Given the description of an element on the screen output the (x, y) to click on. 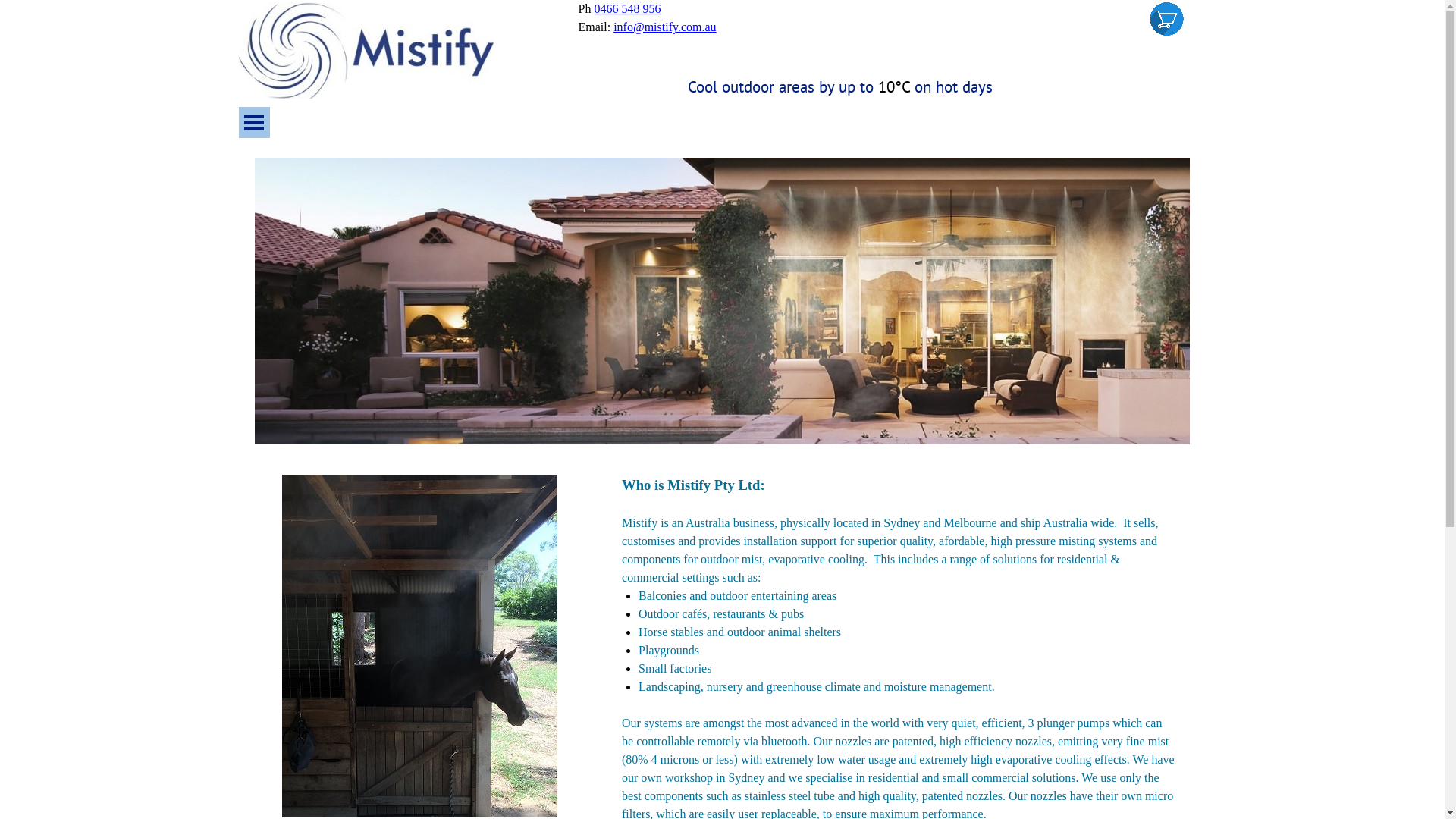
info@mistify.com.au Element type: text (664, 26)
Outdoor Misting Element type: hover (721, 300)
View Cart Element type: hover (1165, 18)
Horse Misting Element type: hover (419, 645)
0466 548 956 Element type: text (626, 8)
Mistify Logo and Name Element type: hover (365, 52)
